Given the description of an element on the screen output the (x, y) to click on. 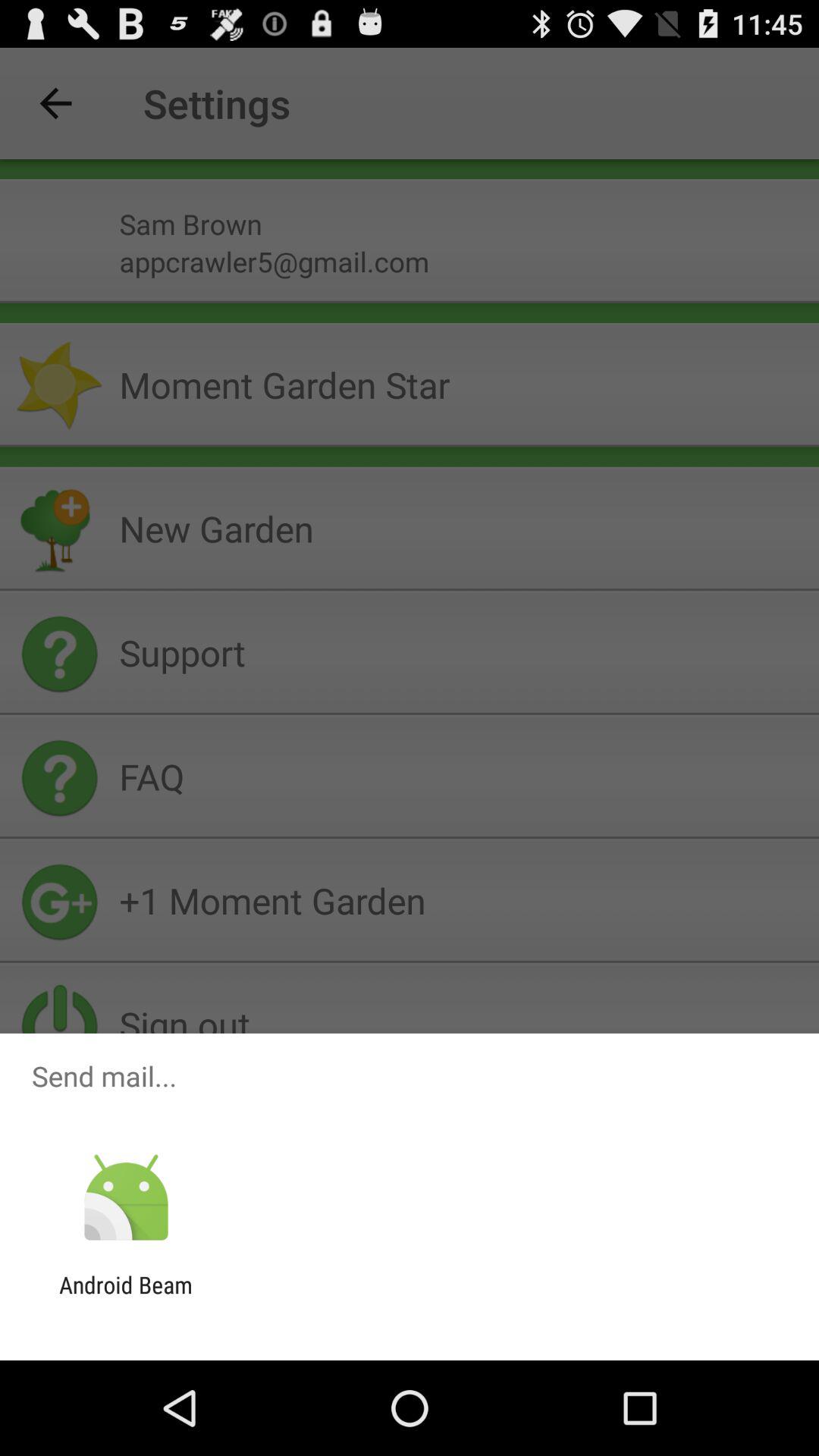
launch android beam item (125, 1298)
